Given the description of an element on the screen output the (x, y) to click on. 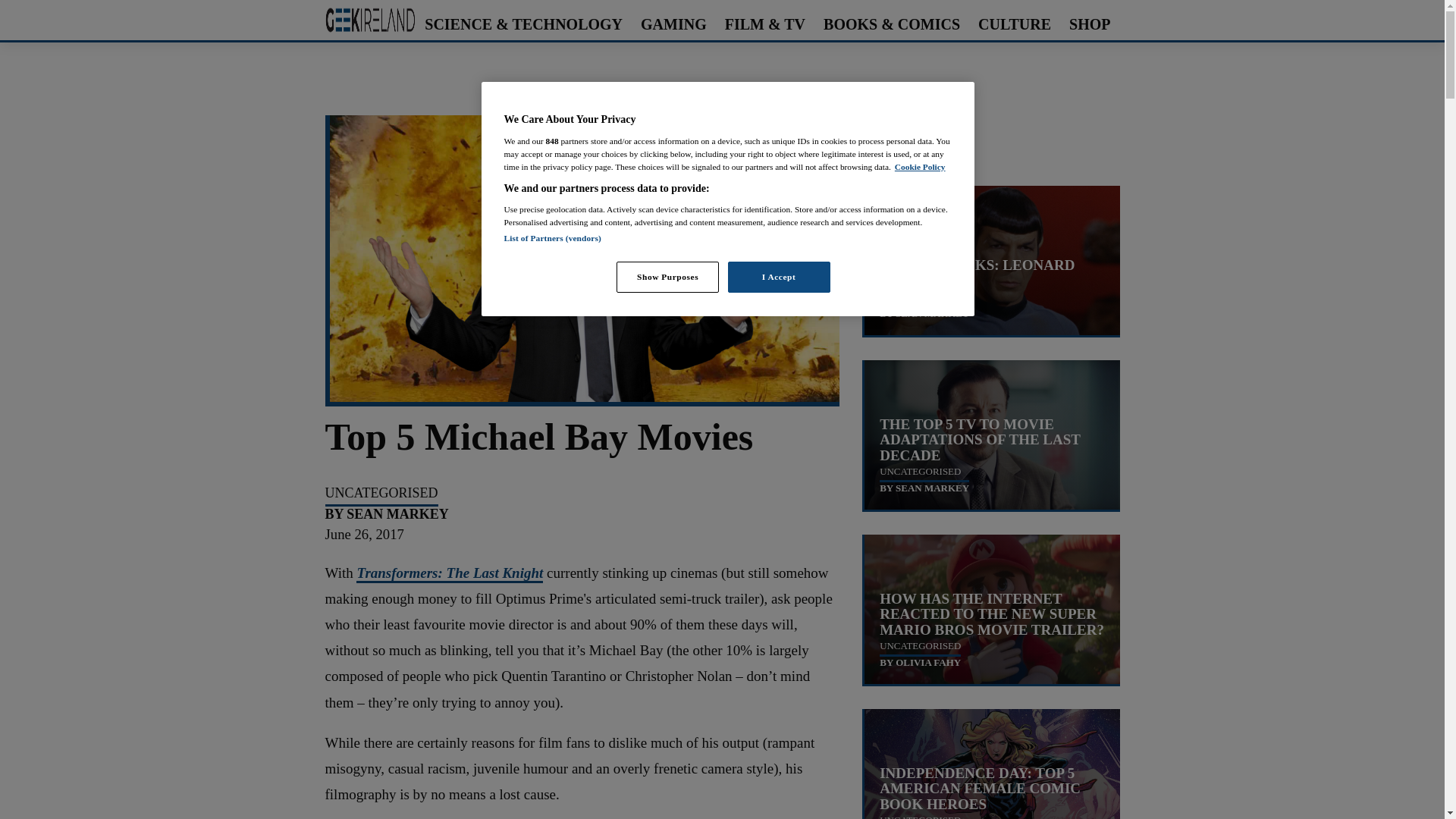
GAMING (673, 23)
UNCATEGORISED (381, 492)
SHOP (1089, 23)
Transformers: The Last Knight (449, 574)
BY SEAN MARKEY (386, 514)
CULTURE (1014, 23)
